Given the description of an element on the screen output the (x, y) to click on. 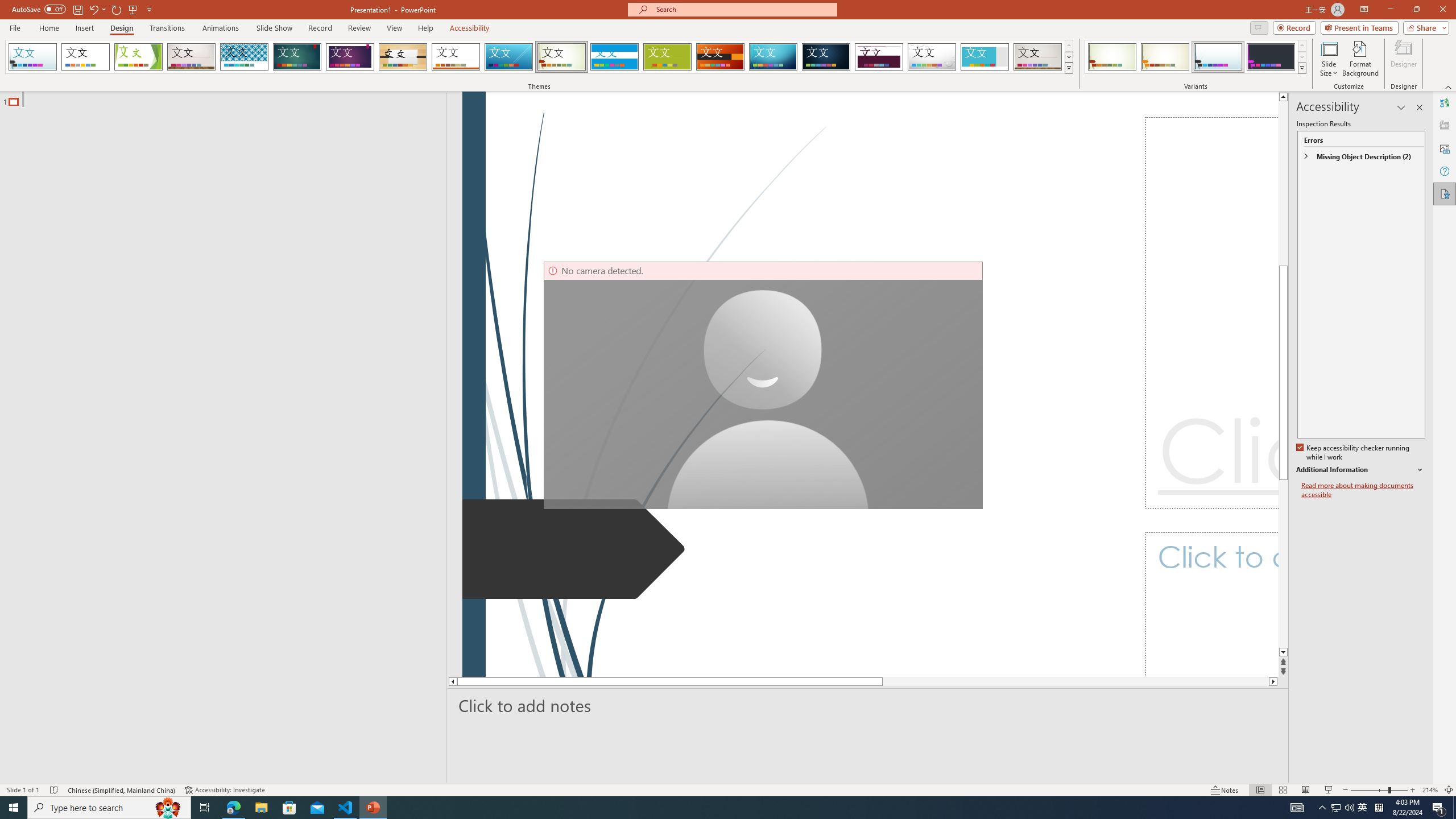
Dividend (879, 56)
Read more about making documents accessible (1363, 489)
Format Background (1360, 58)
Gallery (1037, 56)
Slide Size (1328, 58)
Ion Boardroom (350, 56)
